Given the description of an element on the screen output the (x, y) to click on. 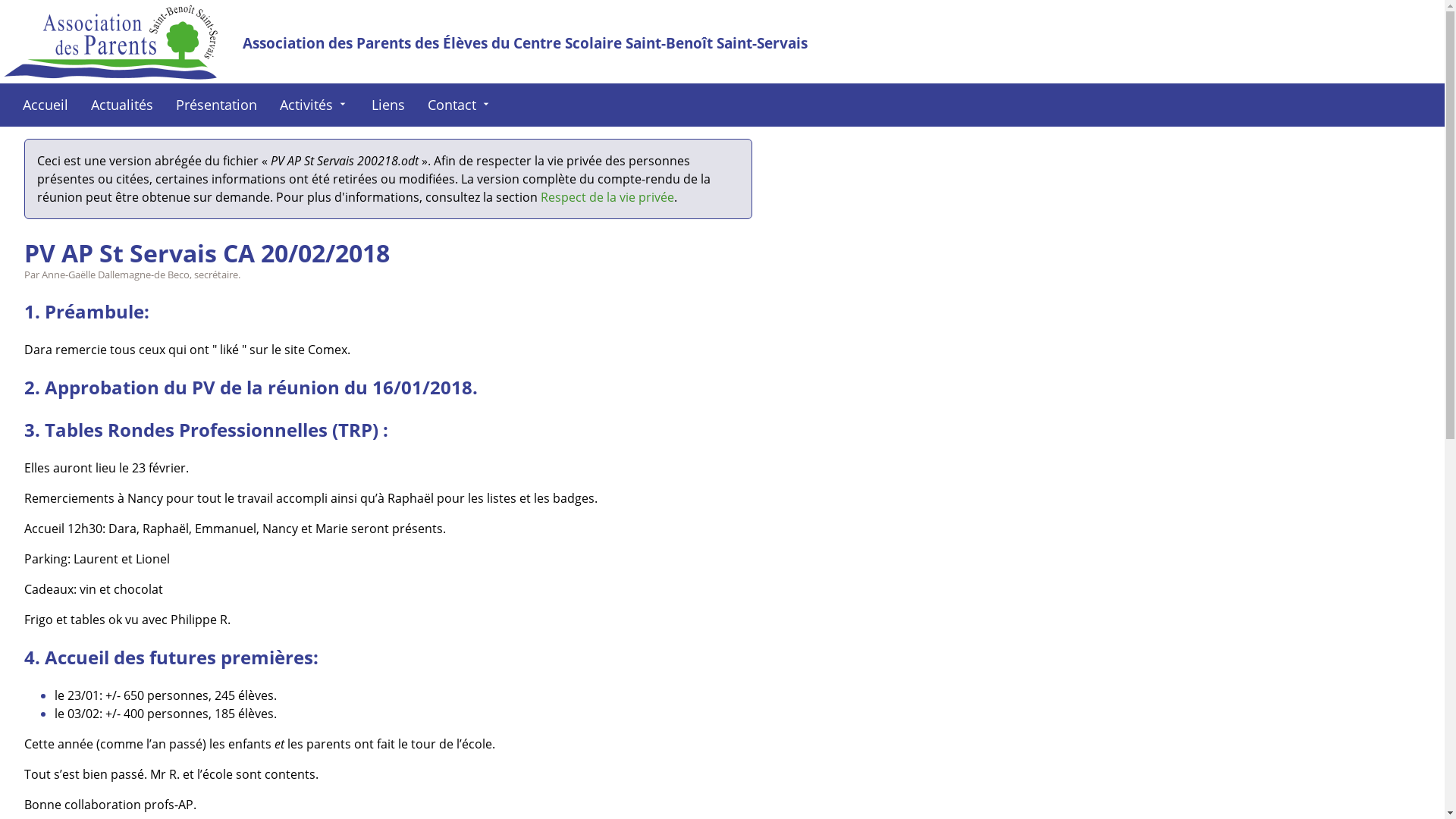
Contact arrow_drop_down Element type: text (459, 104)
Liens Element type: text (387, 104)
Accueil Element type: text (45, 104)
